Given the description of an element on the screen output the (x, y) to click on. 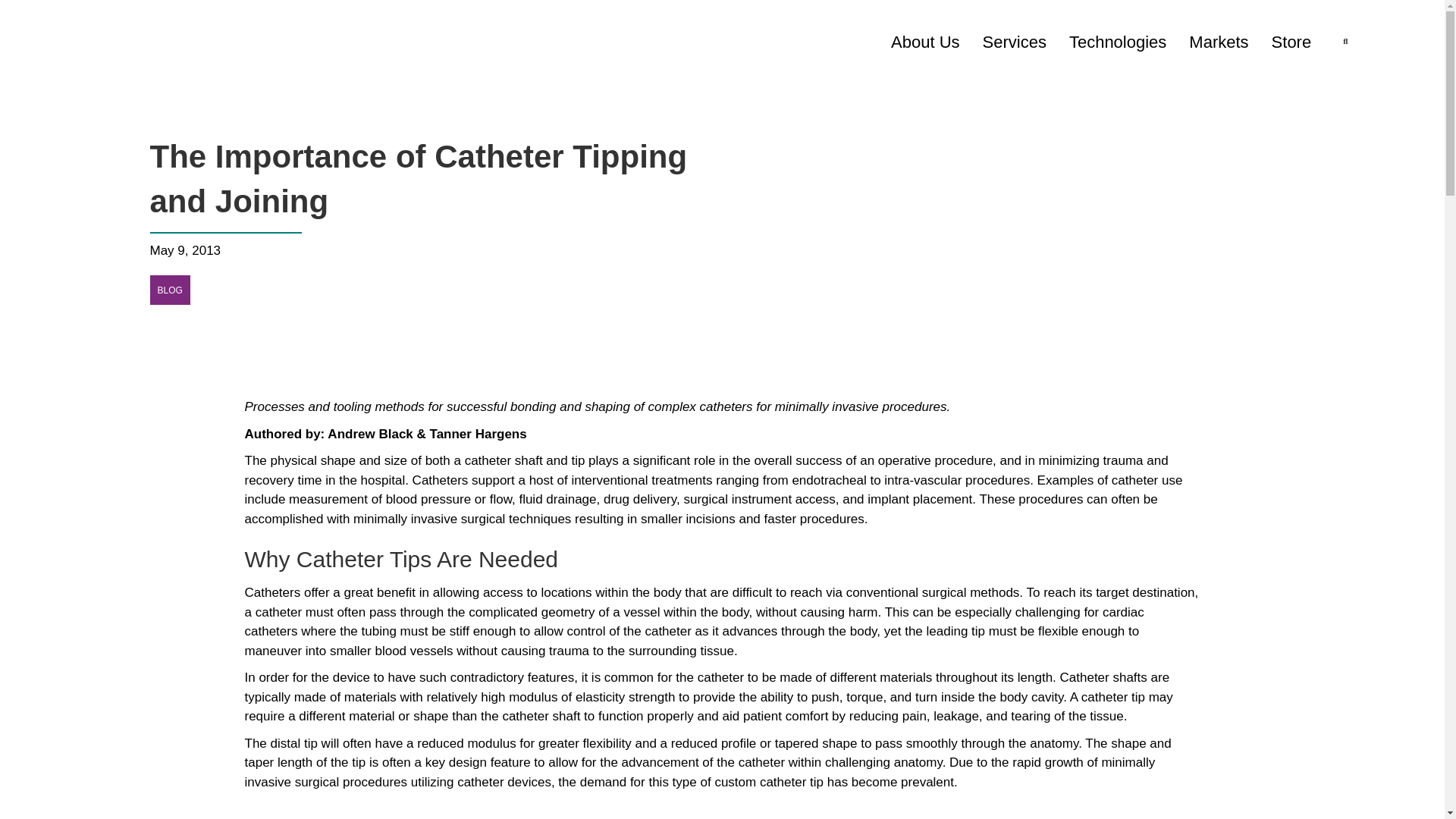
About Us (925, 42)
Technologies (1117, 42)
Services (1014, 42)
